Given the description of an element on the screen output the (x, y) to click on. 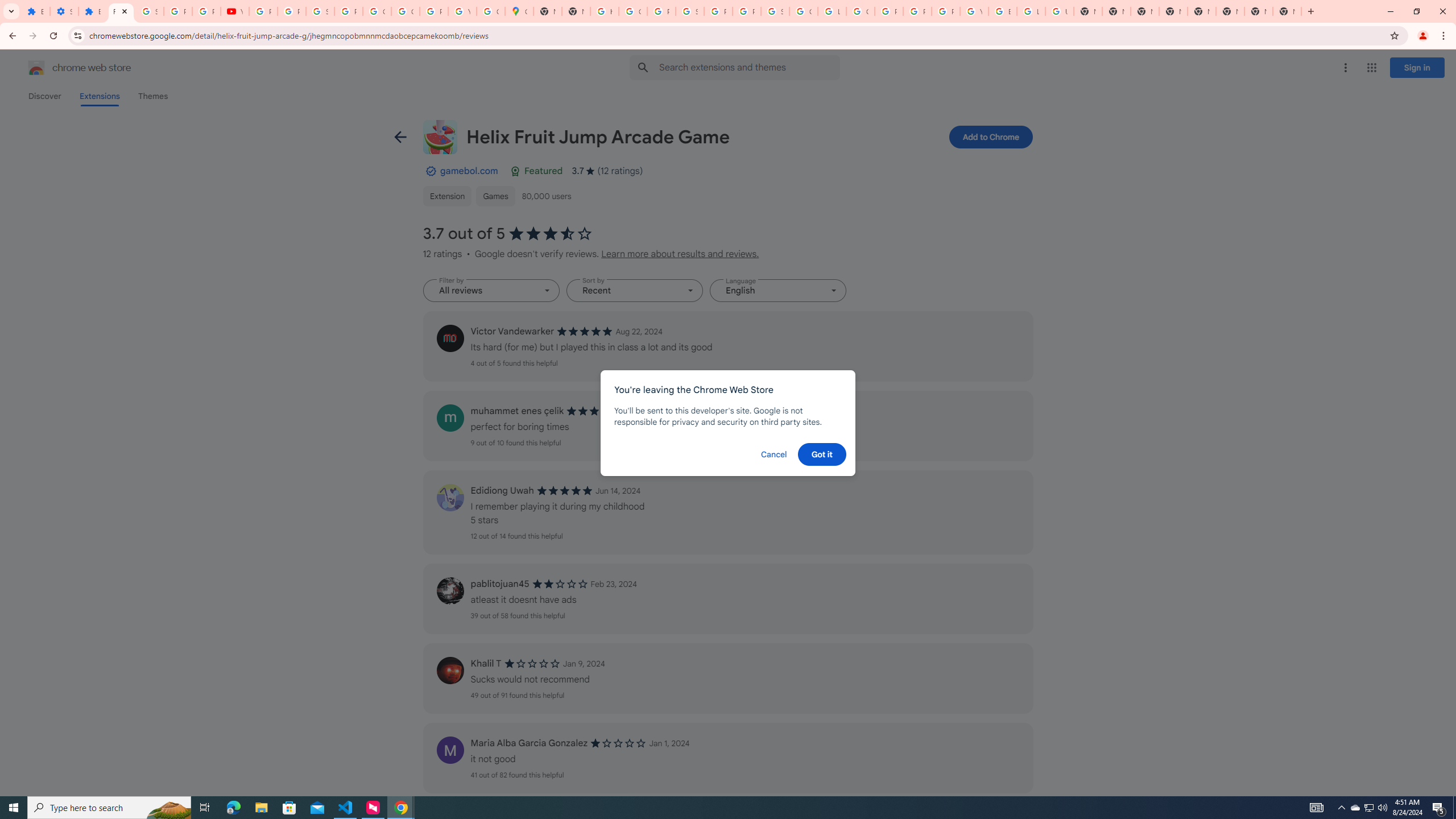
Cancel (773, 454)
Sign in - Google Accounts (148, 11)
Got it (821, 454)
Google Maps (518, 11)
Settings (63, 11)
